Given the description of an element on the screen output the (x, y) to click on. 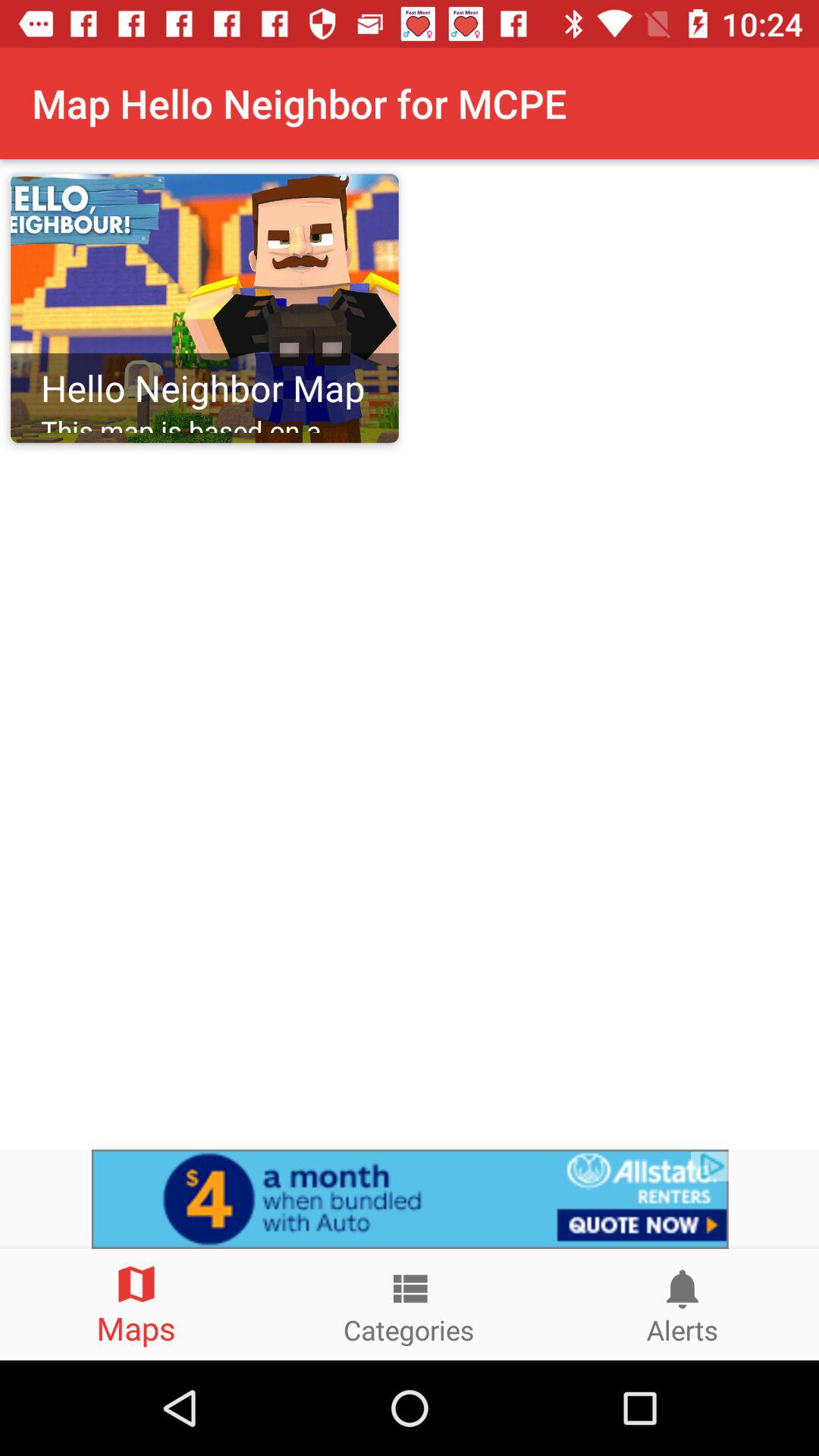
advertisement (409, 1198)
